Given the description of an element on the screen output the (x, y) to click on. 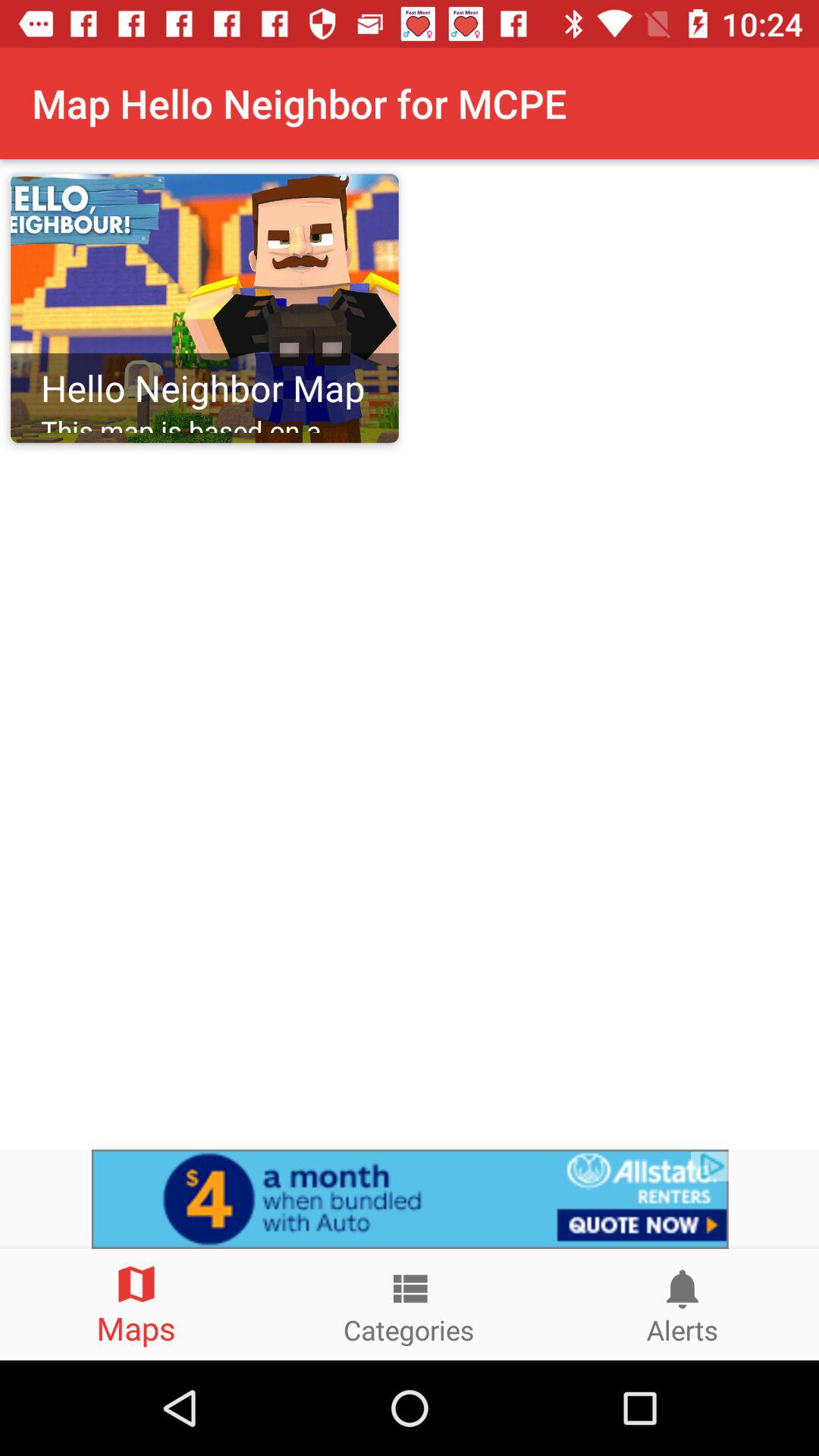
advertisement (409, 1198)
